Given the description of an element on the screen output the (x, y) to click on. 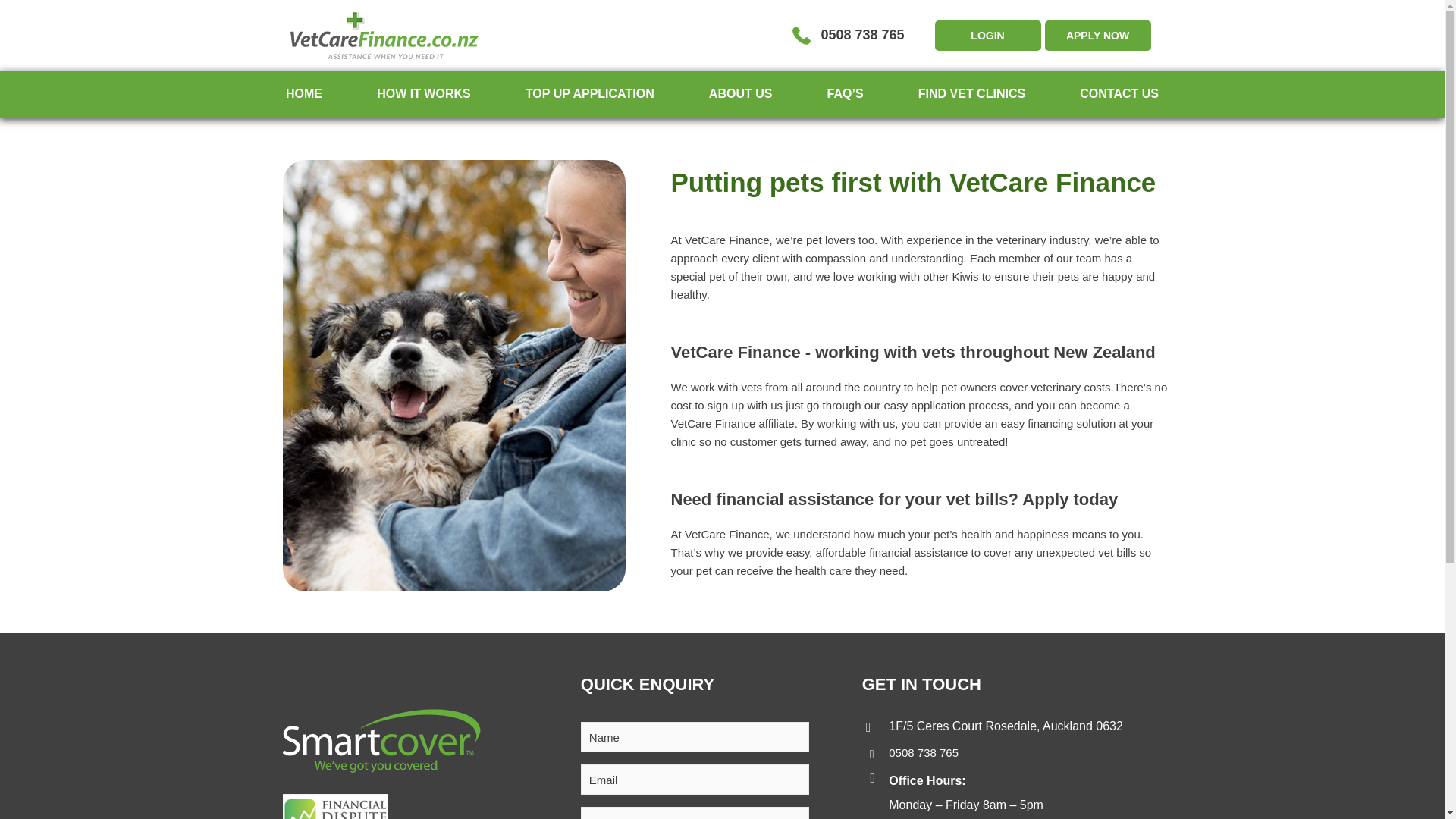
TOP UP APPLICATION (589, 93)
CONTACT US (1119, 93)
About Us (741, 93)
0508 738 765 (923, 752)
How It Works (423, 93)
Home (303, 93)
Top Up Application (589, 93)
0508 738 765 (848, 35)
ABOUT US (741, 93)
APPLY NOW (1098, 34)
